Given the description of an element on the screen output the (x, y) to click on. 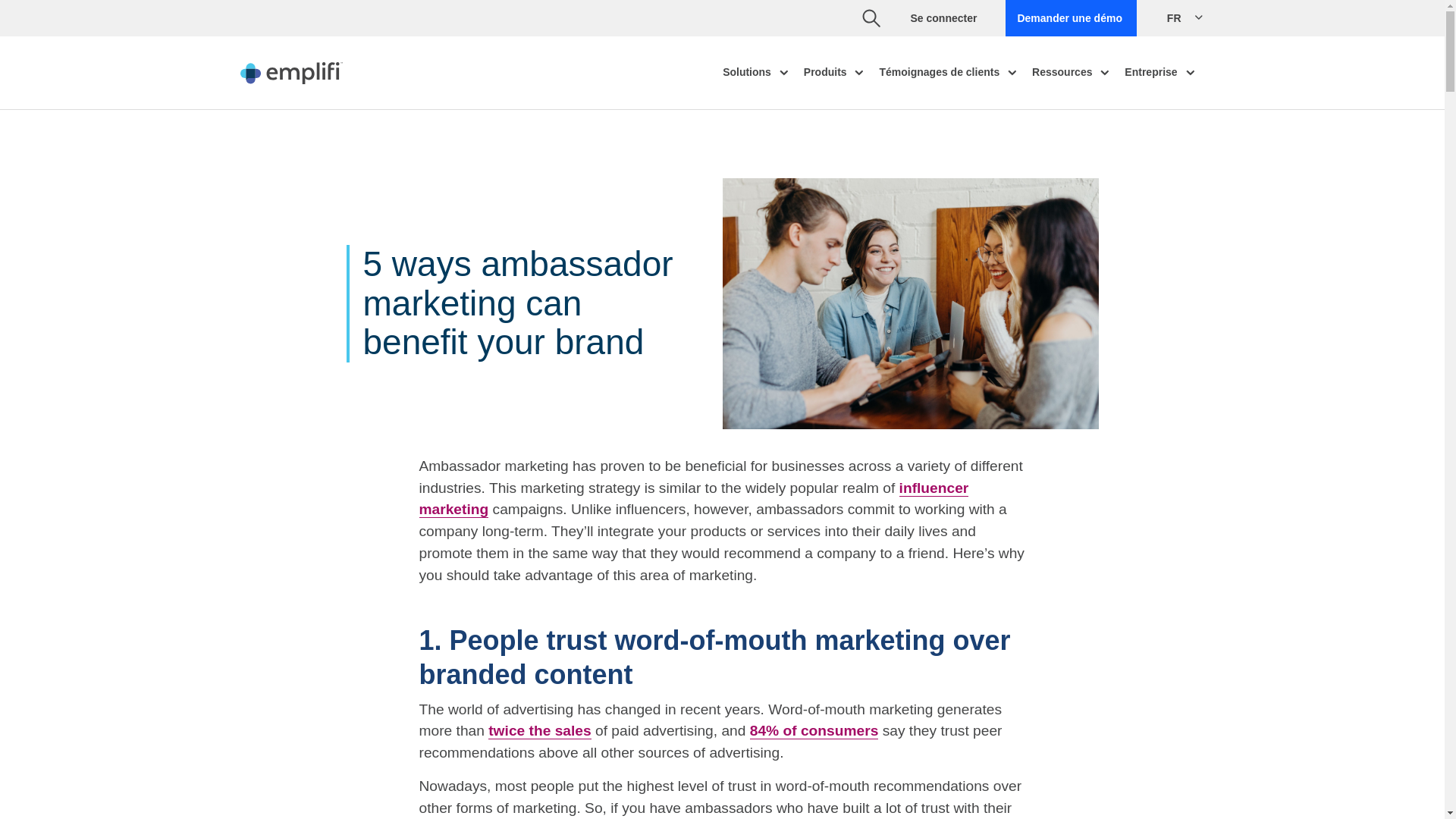
FR (1187, 18)
Produits (836, 72)
Se connecter (943, 17)
Solutions (757, 72)
